Given the description of an element on the screen output the (x, y) to click on. 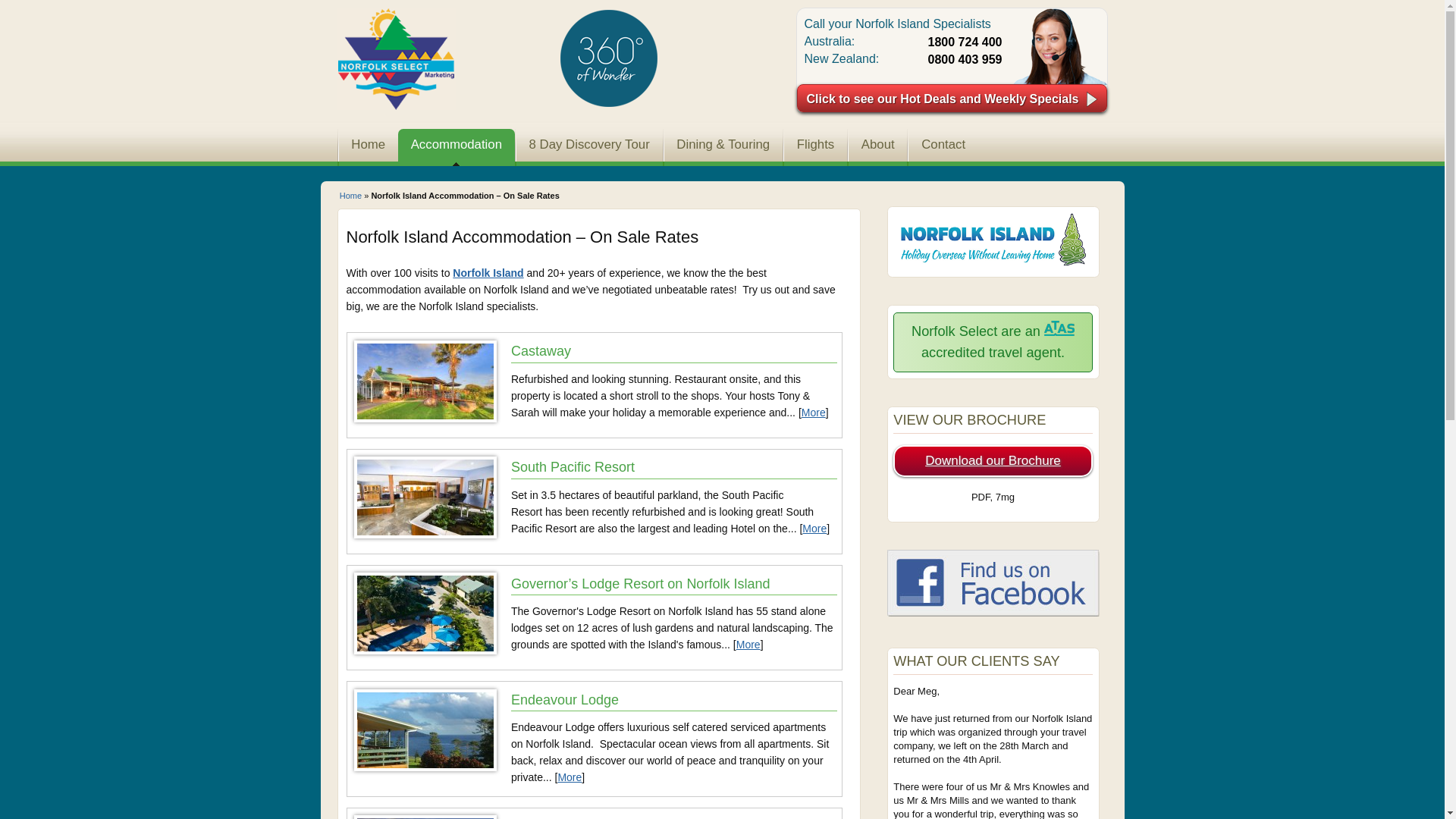
More Element type: text (748, 644)
Home Element type: text (367, 147)
About Element type: text (877, 147)
Castaway Element type: text (674, 350)
Download our Brochure Element type: text (992, 460)
Home Element type: text (350, 195)
More Element type: text (569, 777)
atas-travel-accredited Element type: hover (1059, 330)
Norfolk Island Element type: text (487, 272)
Norfolk Island Holidays from Norfolk Select Element type: text (395, 58)
Click to see our Hot Deals and Weekly Specials Element type: text (952, 98)
Accommodation Element type: text (456, 147)
More Element type: text (813, 412)
Dining & Touring Element type: text (723, 147)
Flights Element type: text (815, 147)
8 Day Discovery Tour Element type: text (589, 147)
Endeavour Lodge Element type: text (674, 699)
More Element type: text (814, 528)
Contact Element type: text (942, 147)
South Pacific Resort Element type: text (674, 466)
